Given the description of an element on the screen output the (x, y) to click on. 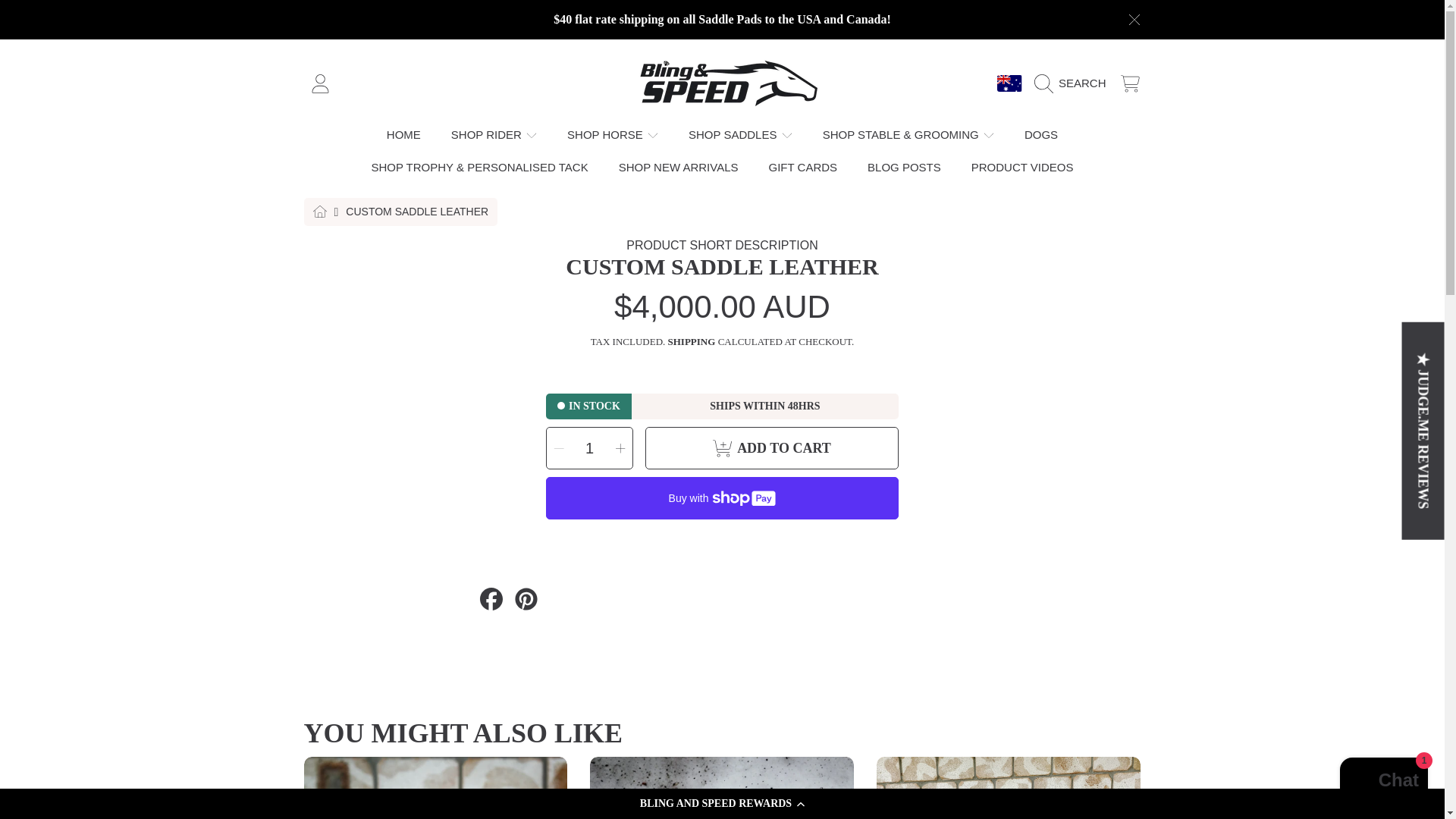
1 (589, 447)
SKIP TO CONTENT (96, 21)
